Given the description of an element on the screen output the (x, y) to click on. 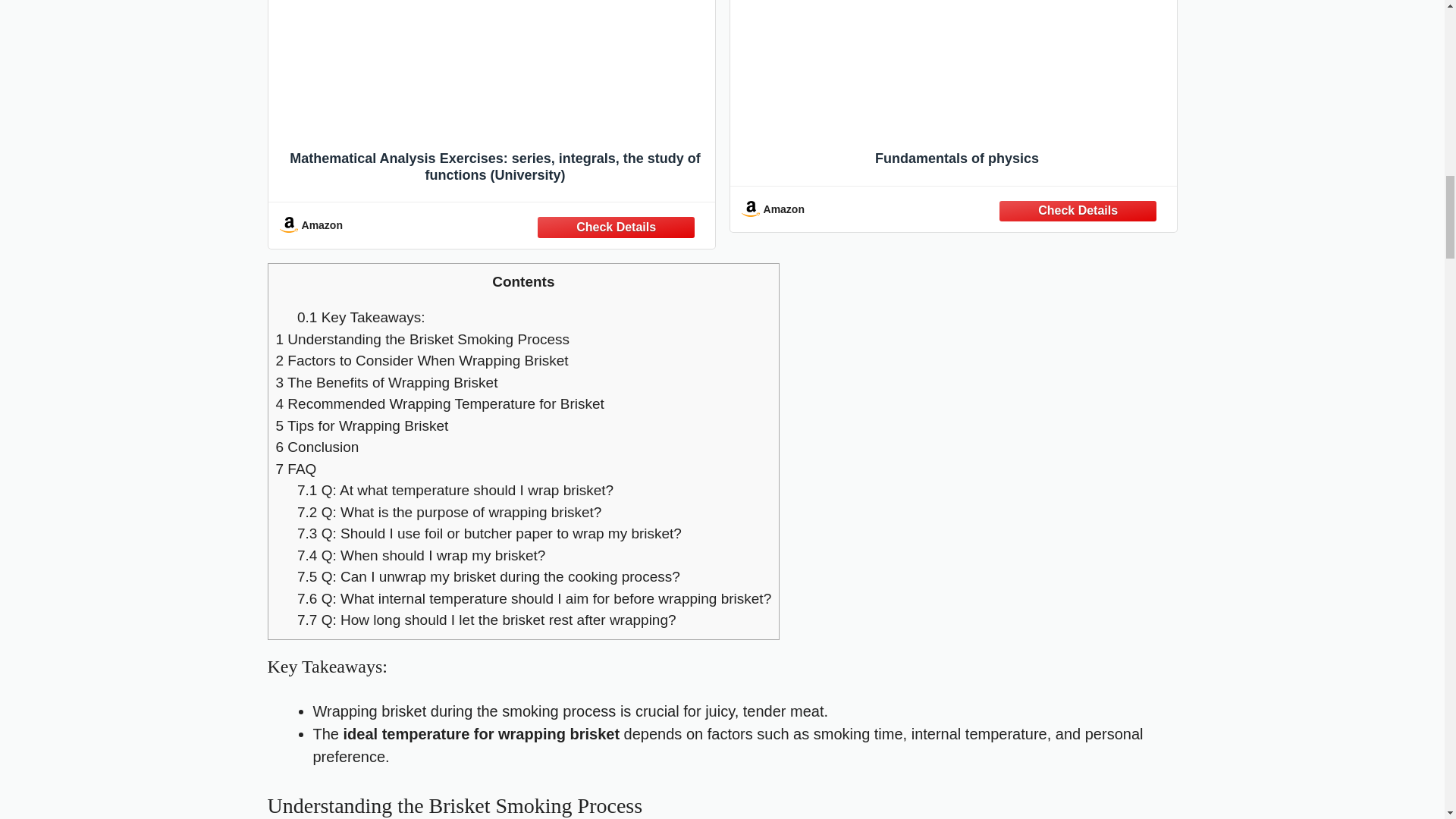
1 Understanding the Brisket Smoking Process (423, 339)
2 Factors to Consider When Wrapping Brisket (422, 360)
7 FAQ (296, 468)
4 Recommended Wrapping Temperature for Brisket (440, 403)
5 Tips for Wrapping Brisket (362, 425)
7.5 Q: Can I unwrap my brisket during the cooking process? (488, 576)
Amazon (491, 224)
0.1 Key Takeaways: (361, 317)
Amazon (953, 209)
7.2 Q: What is the purpose of wrapping brisket? (449, 512)
